Given the description of an element on the screen output the (x, y) to click on. 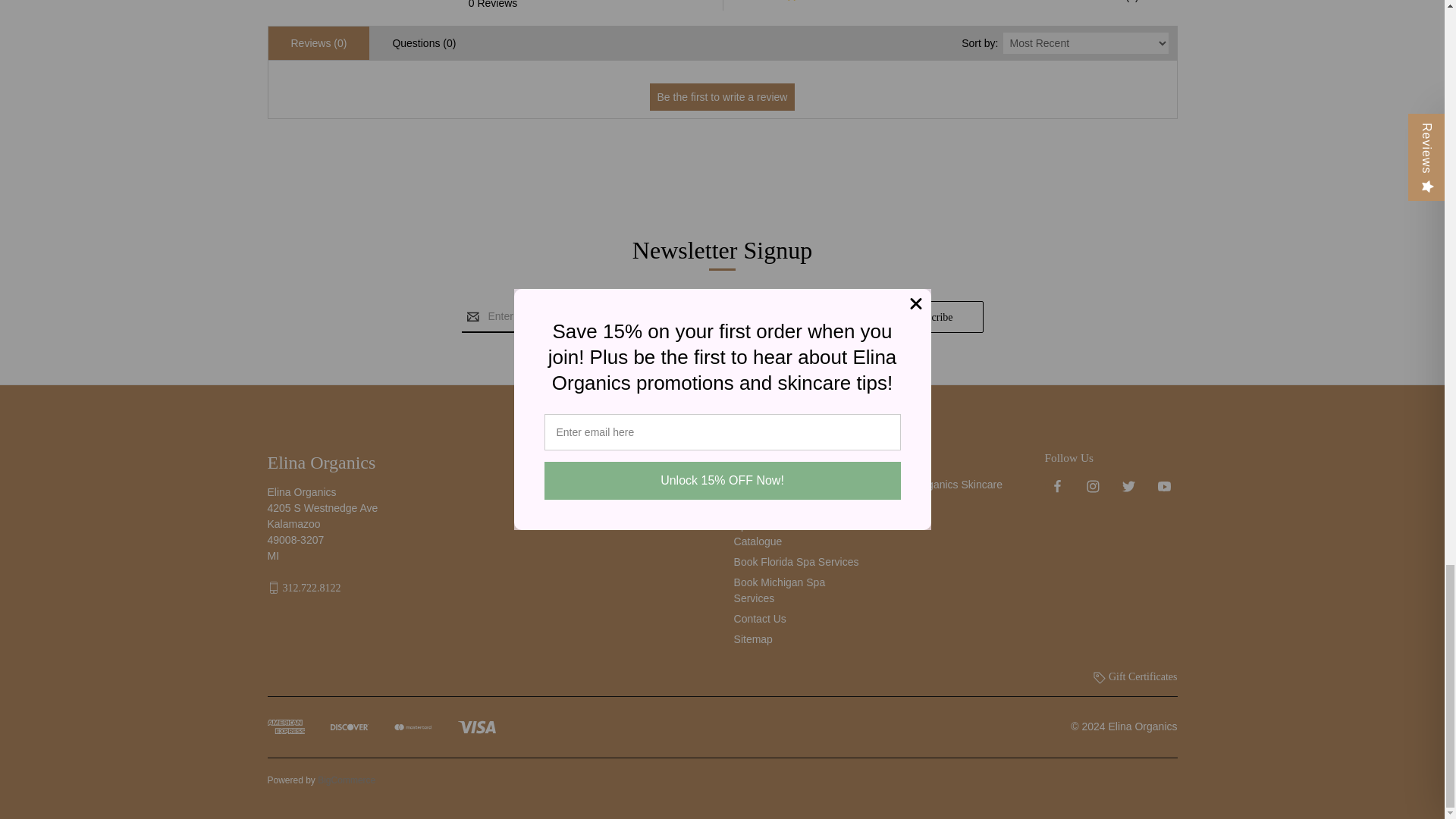
Subscribe (931, 316)
Be the first to write a review (721, 96)
